Given the description of an element on the screen output the (x, y) to click on. 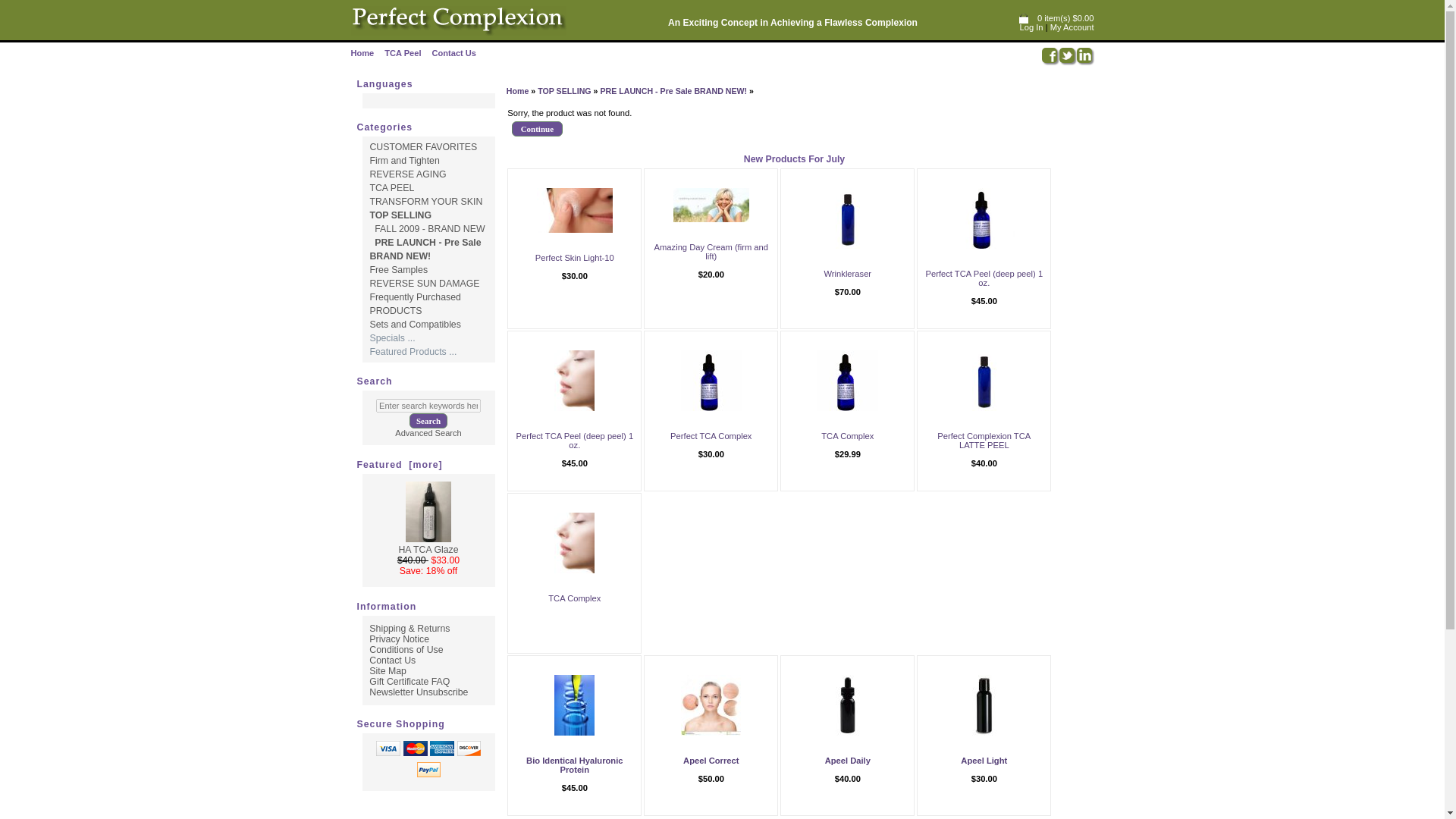
Search (427, 420)
TCA Peel (402, 52)
Home (362, 52)
Perfect Skin Light-10 (574, 257)
 Perfect TCA Complex  (711, 380)
 Apeel Light  (983, 704)
Wrinkleraser (847, 273)
My Account (1071, 26)
Home (517, 90)
Log In (1030, 26)
TOP SELLING (564, 90)
Contact Us (454, 52)
 TCA Complex  (846, 380)
 Perfect Skin Light-10  (574, 210)
Search (427, 420)
